Given the description of an element on the screen output the (x, y) to click on. 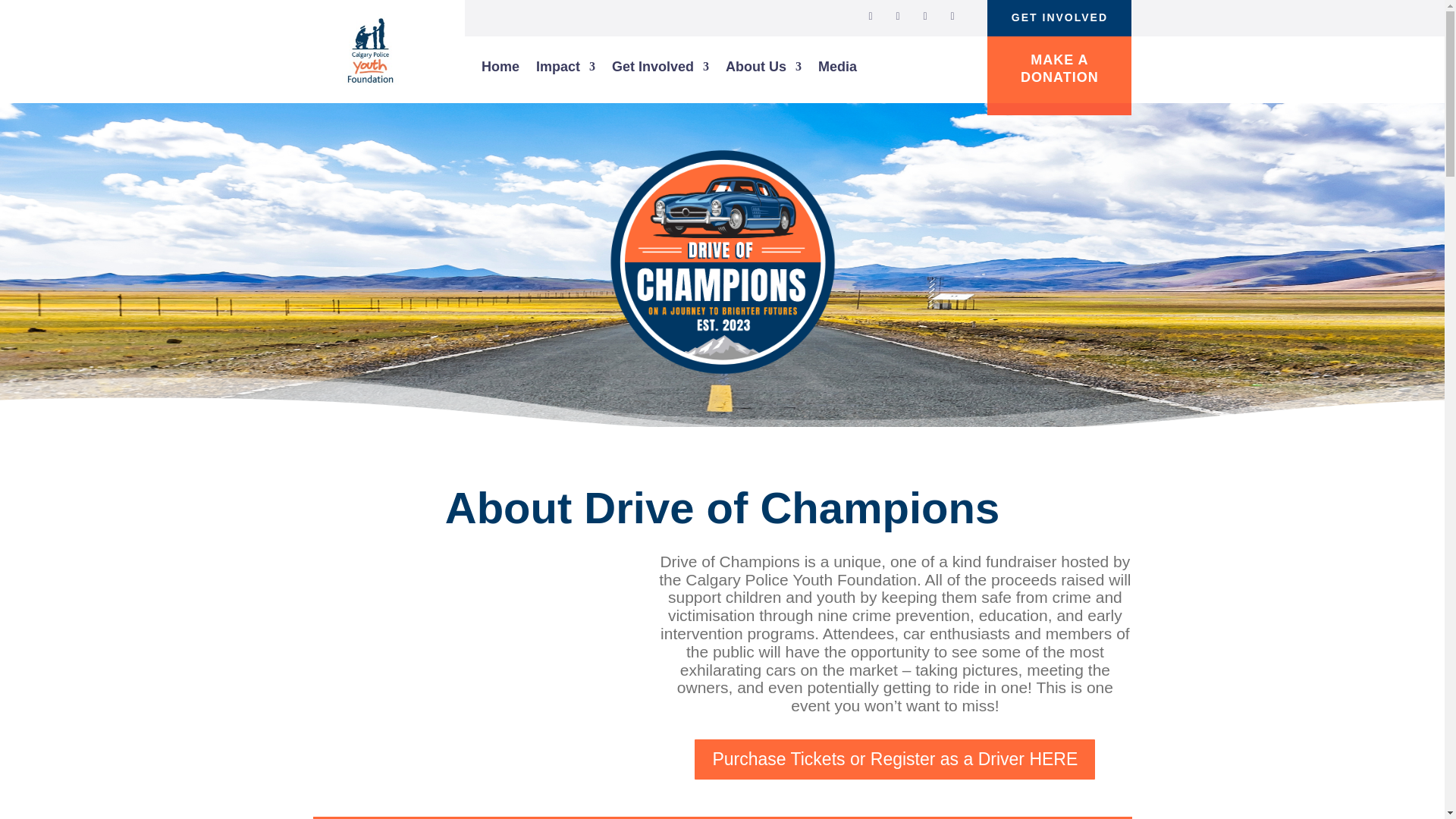
Drive of Champions 2b-5-4 (721, 259)
Drive of Champions 2023 (462, 640)
Get Involved (660, 69)
About Us (763, 69)
Follow on X (870, 16)
Impact (565, 69)
GET INVOLVED (1059, 18)
Follow on LinkedIn (925, 16)
Home (500, 69)
Follow on Instagram (952, 16)
Follow on Facebook (897, 16)
Media (837, 69)
